Given the description of an element on the screen output the (x, y) to click on. 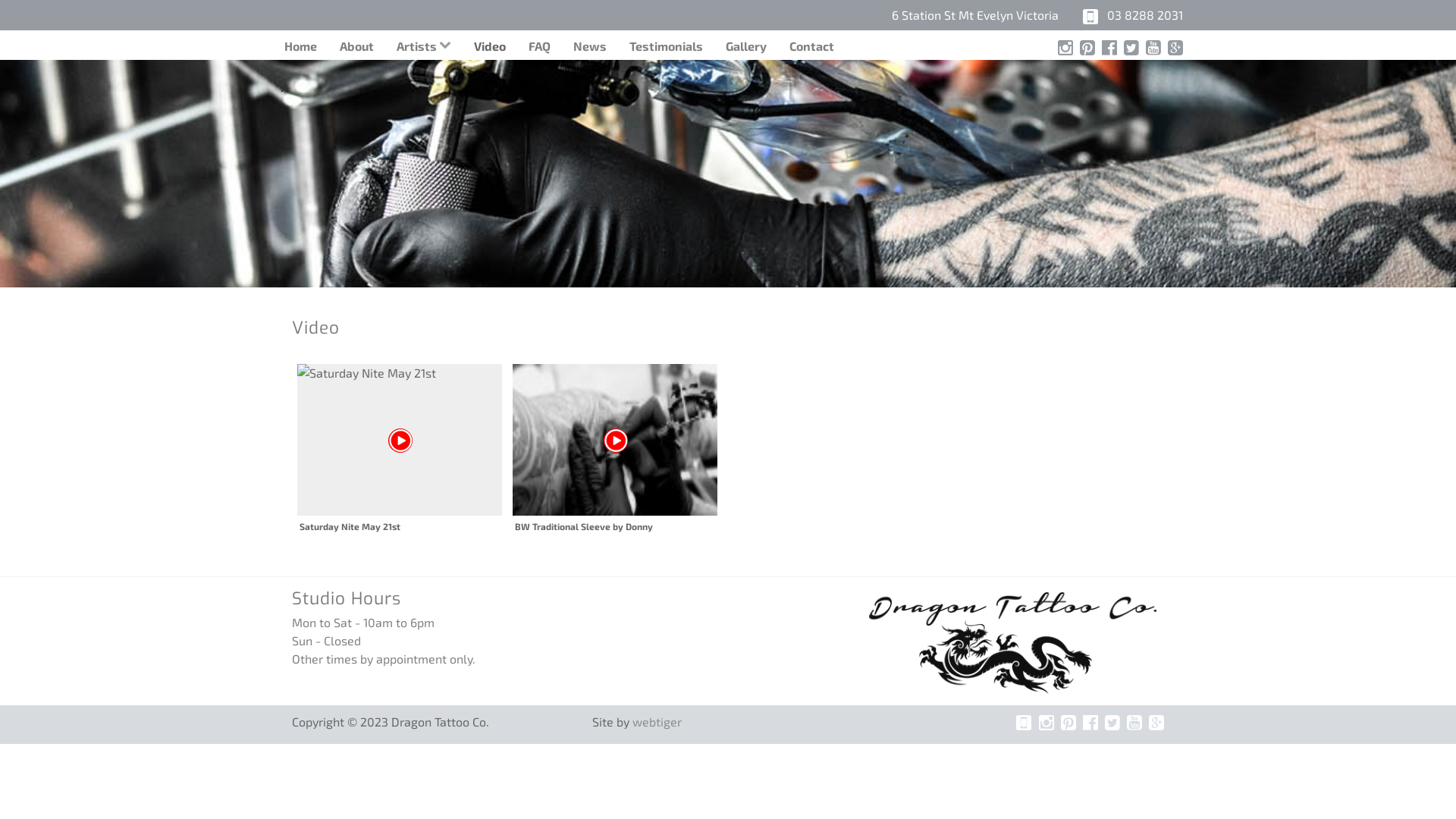
BW Traditional Sleeve by Donny Element type: text (614, 448)
Home Element type: text (300, 44)
Contact Element type: text (811, 44)
Artists Element type: text (423, 44)
About Element type: text (356, 44)
Saturday Nite May 21st Element type: text (399, 448)
Gallery Element type: text (746, 44)
Video Element type: text (489, 44)
webtiger Element type: text (656, 721)
BW Traditional Sleeve by Donny Element type: hover (614, 439)
Saturday Nite May 21st Element type: hover (399, 439)
Testimonials Element type: text (666, 44)
News Element type: text (589, 44)
FAQ Element type: text (539, 44)
